Given the description of an element on the screen output the (x, y) to click on. 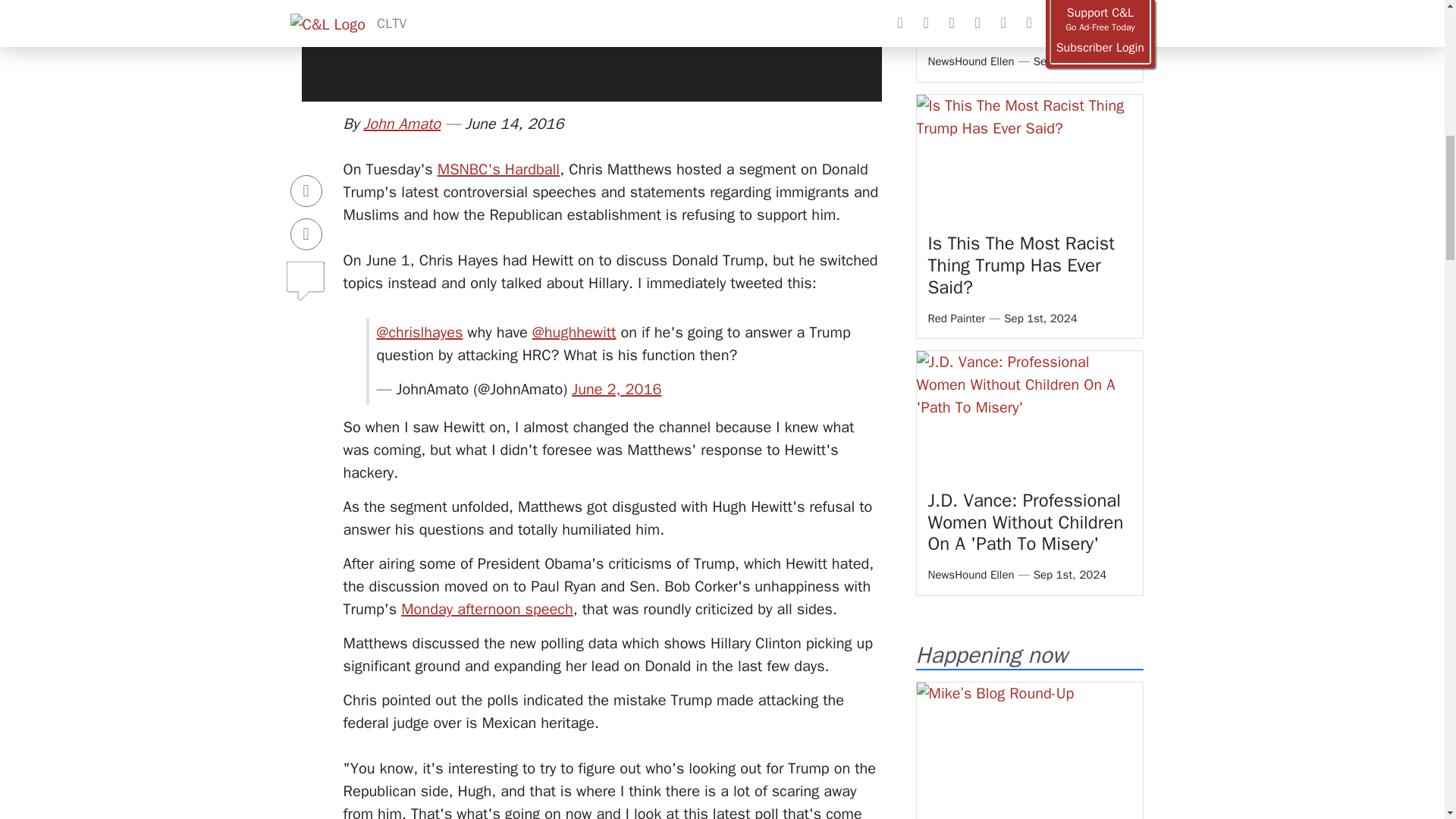
John Amato (401, 123)
MSNBC's Hardball (498, 169)
Share on Twitter (306, 194)
Monday afternoon speech (486, 609)
Comments (306, 234)
June 2, 2016 (616, 389)
Share on Facebook (306, 151)
John Amato (401, 123)
